Given the description of an element on the screen output the (x, y) to click on. 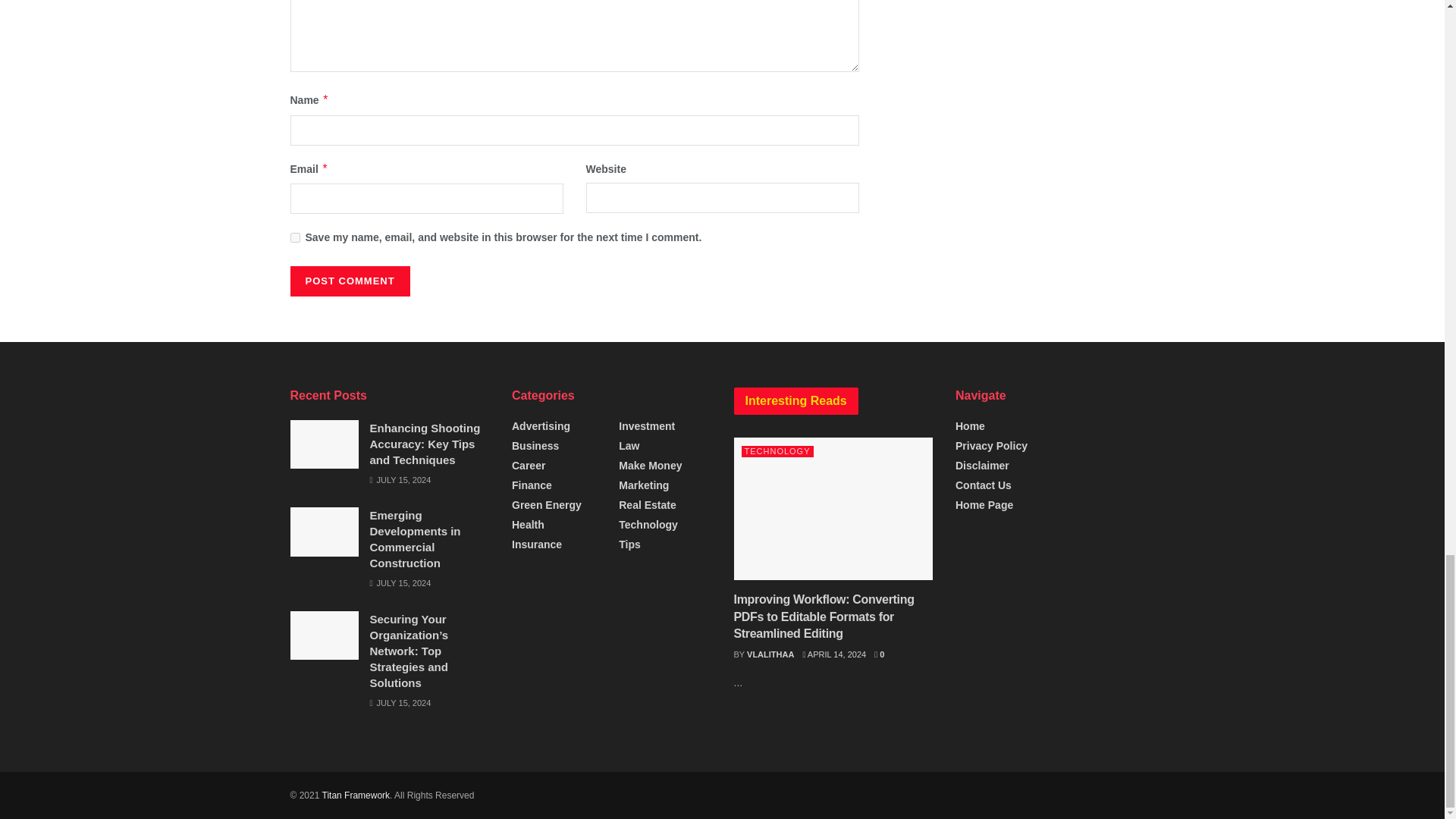
Post Comment (349, 281)
Post Comment (349, 281)
yes (294, 237)
